Given the description of an element on the screen output the (x, y) to click on. 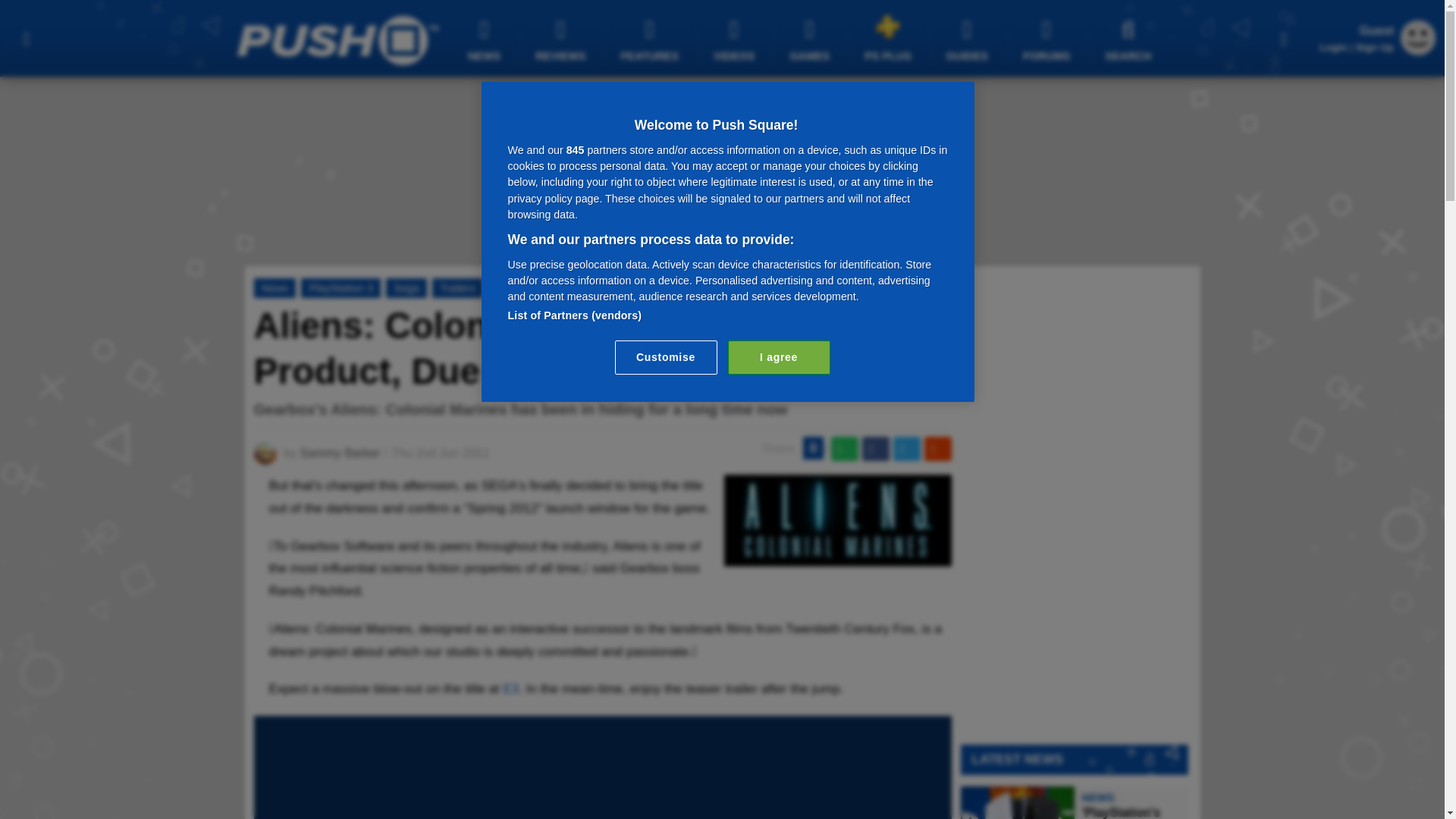
SEARCH (1129, 39)
VIDEOS (736, 39)
GUIDES (969, 39)
Login (1332, 47)
Guest (1417, 51)
Push Square (336, 40)
REVIEWS (562, 39)
GAMES (811, 39)
Share This Page (1283, 37)
FORUMS (1048, 39)
Push Square (336, 40)
Sign Up (1374, 47)
Guest (1417, 37)
NEWS (485, 39)
PS PLUS (889, 38)
